Given the description of an element on the screen output the (x, y) to click on. 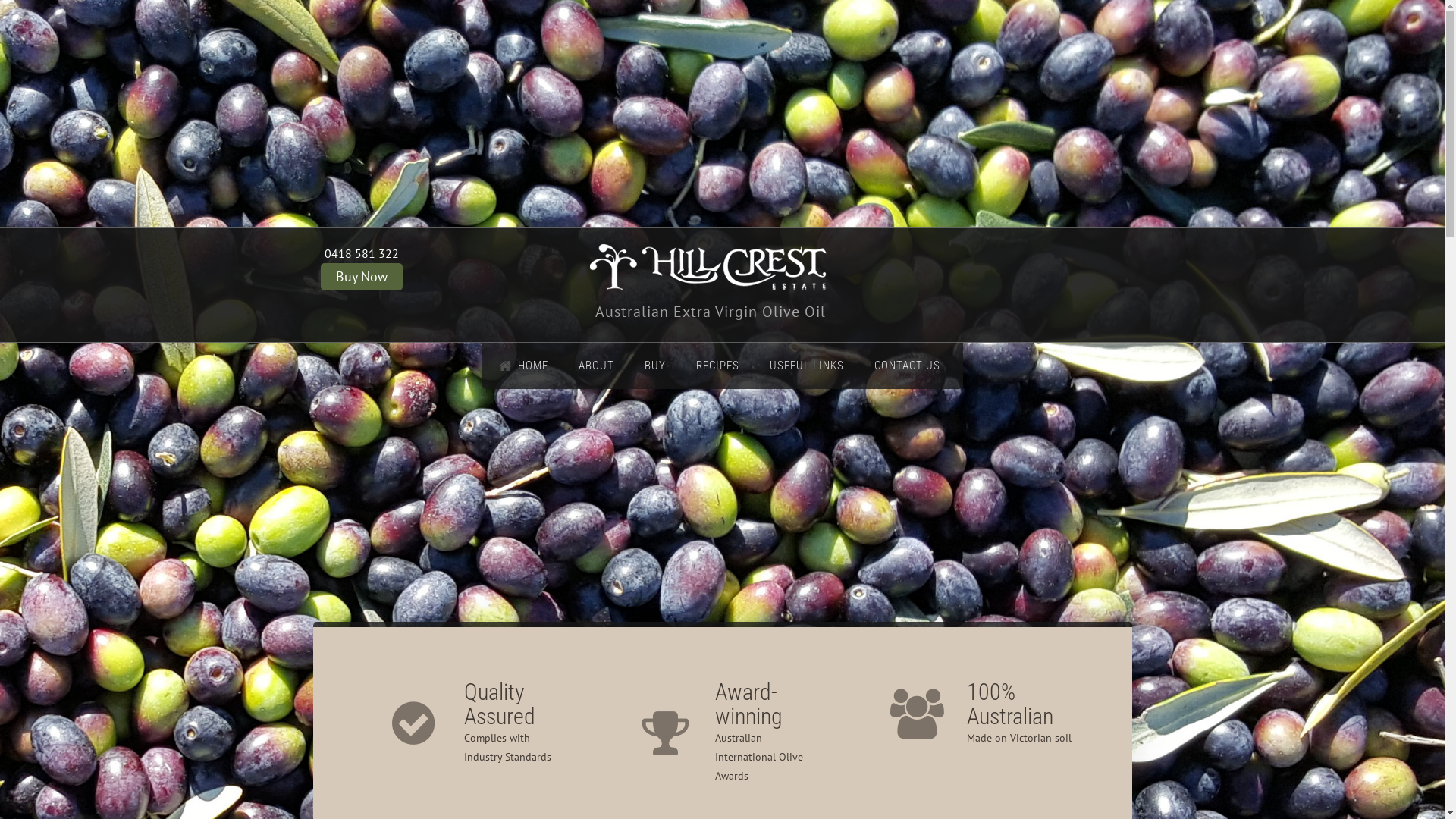
CONTACT US Element type: text (906, 365)
BUY Element type: text (654, 365)
RECIPES Element type: text (717, 365)
HOME Element type: text (526, 365)
ABOUT Element type: text (595, 365)
USEFUL LINKS Element type: text (805, 365)
Buy Now Element type: text (360, 276)
